Given the description of an element on the screen output the (x, y) to click on. 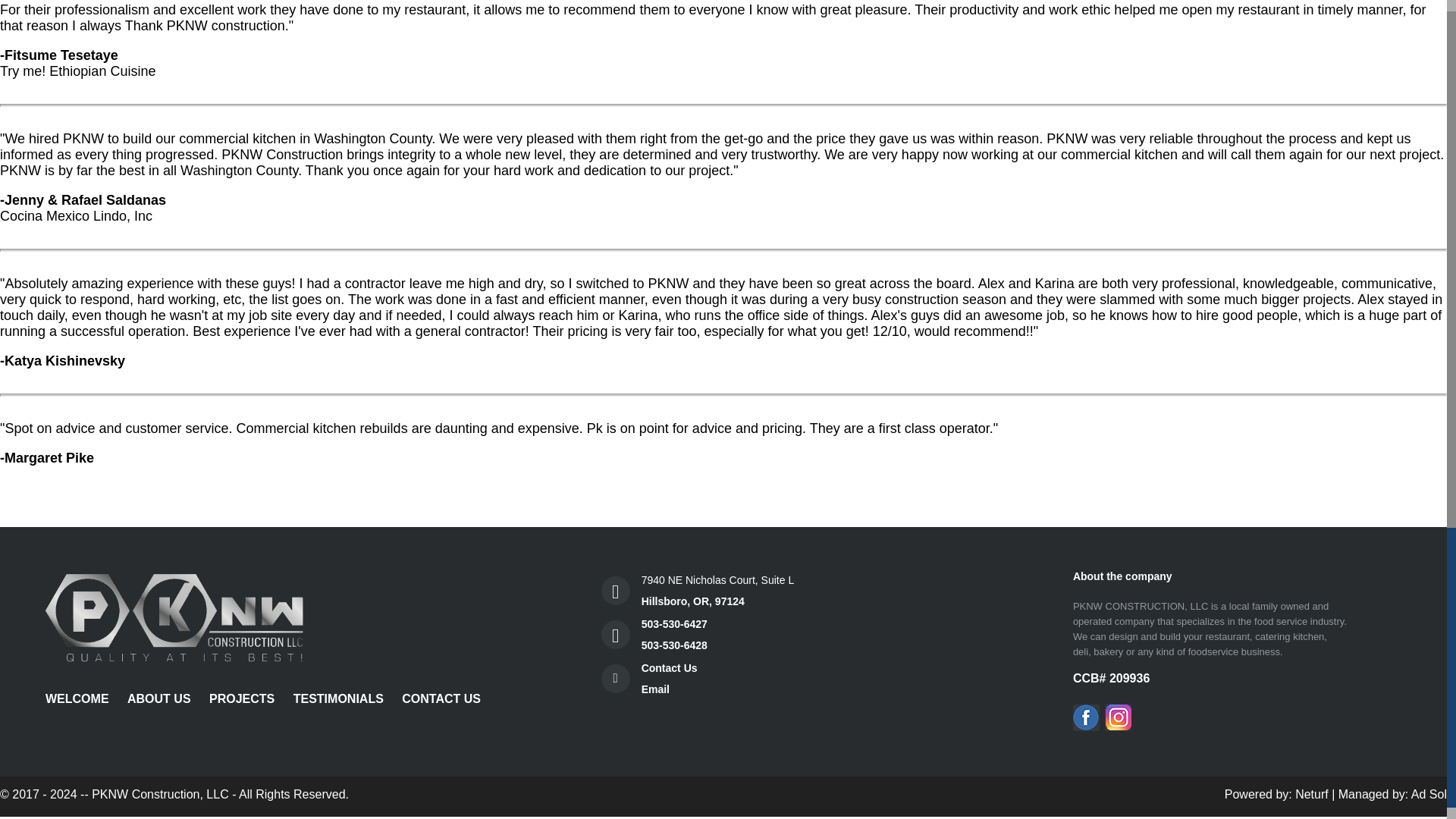
503-530-6428 (674, 645)
Website Application Powered by: Neturf (1275, 793)
503-530-6427 (674, 623)
Contact Us (669, 667)
WELCOME (718, 590)
ABOUT US (76, 699)
Powered by: Neturf (158, 699)
Email (1275, 793)
PROJECTS (655, 689)
TESTIMONIALS (242, 699)
CONTACT US (338, 699)
